Given the description of an element on the screen output the (x, y) to click on. 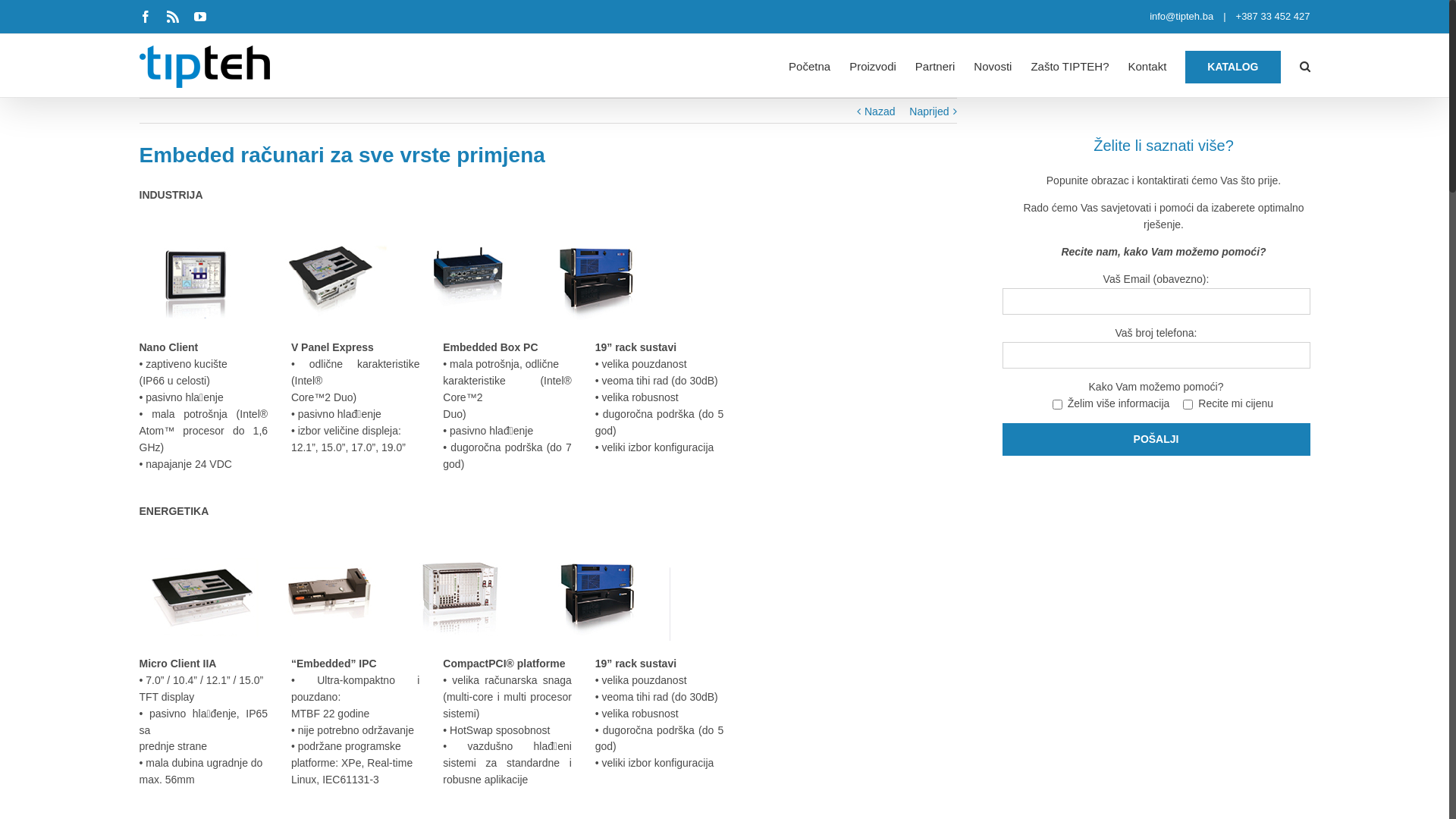
Youtube Element type: text (200, 16)
| Element type: text (1219, 16)
+387 33 452 427 Element type: text (1268, 16)
Facebook Element type: text (145, 16)
Naprijed Element type: text (928, 111)
KATALOG Element type: text (1232, 65)
Proizvodi Element type: text (872, 65)
Rss Element type: text (172, 16)
info@tipteh.ba Element type: text (1176, 16)
Novosti Element type: text (992, 65)
Kontakt Element type: text (1146, 65)
Nazad Element type: text (879, 111)
Partneri Element type: text (935, 65)
